Given the description of an element on the screen output the (x, y) to click on. 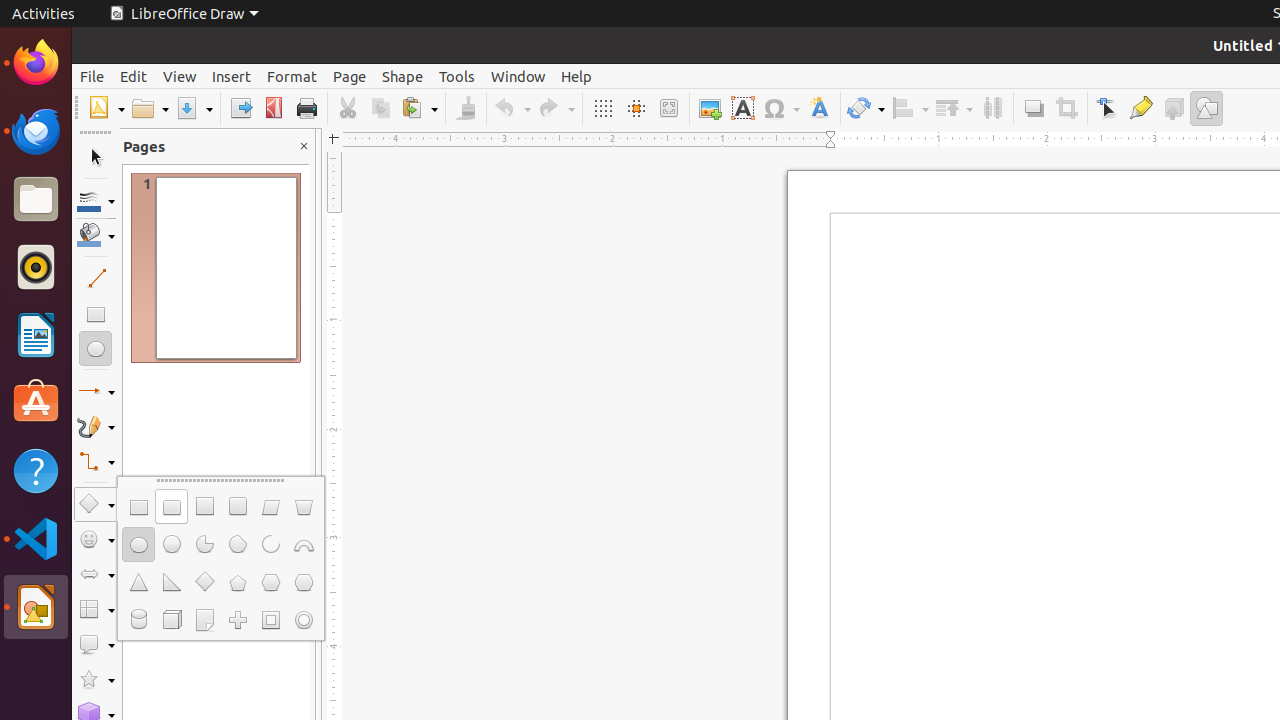
Insert Element type: menu (231, 76)
File Element type: menu (92, 76)
Window Element type: menu (518, 76)
Arrange Element type: push-button (954, 108)
View Element type: menu (179, 76)
